Given the description of an element on the screen output the (x, y) to click on. 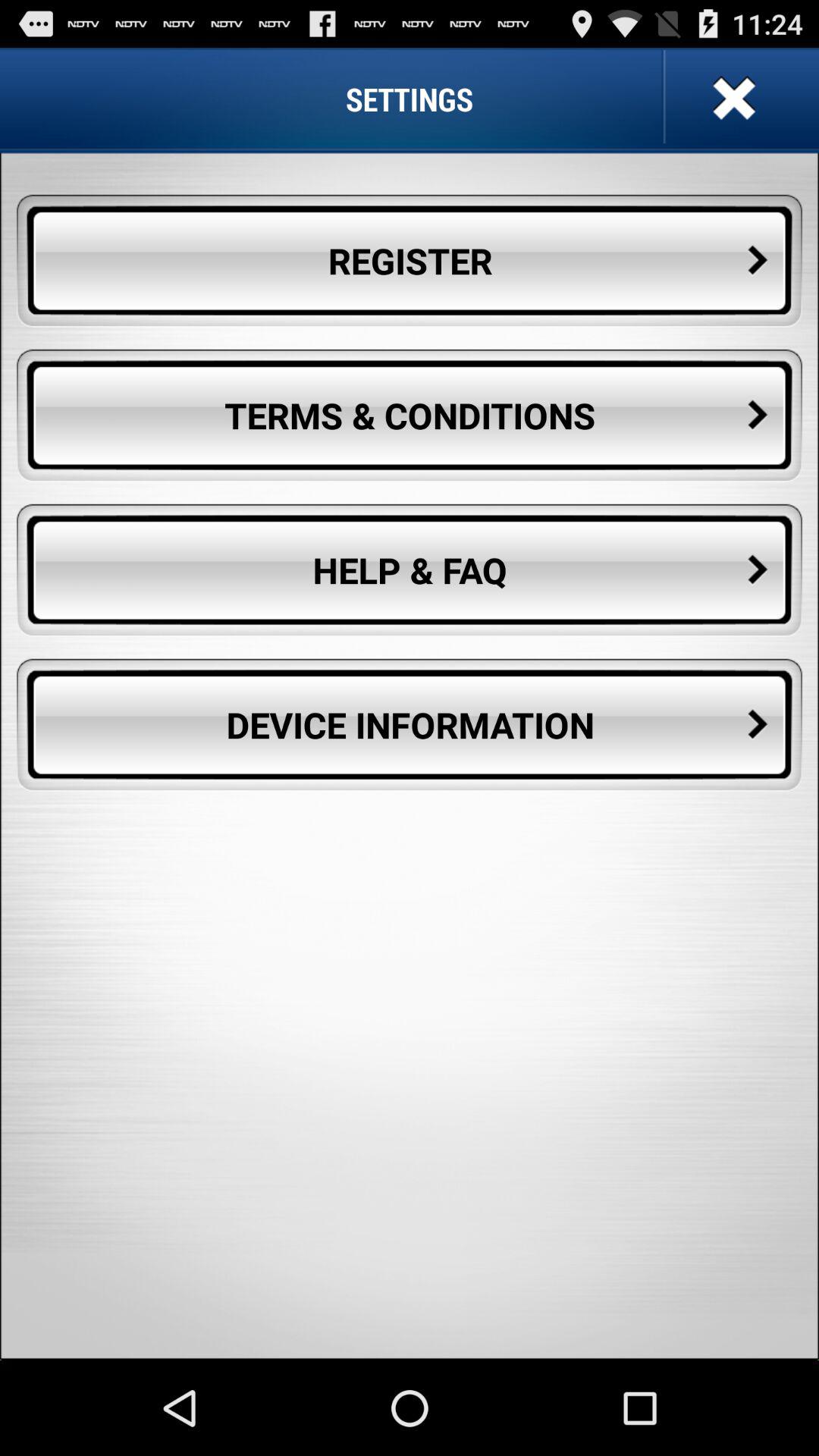
turn off the button below the help & faq button (409, 724)
